Given the description of an element on the screen output the (x, y) to click on. 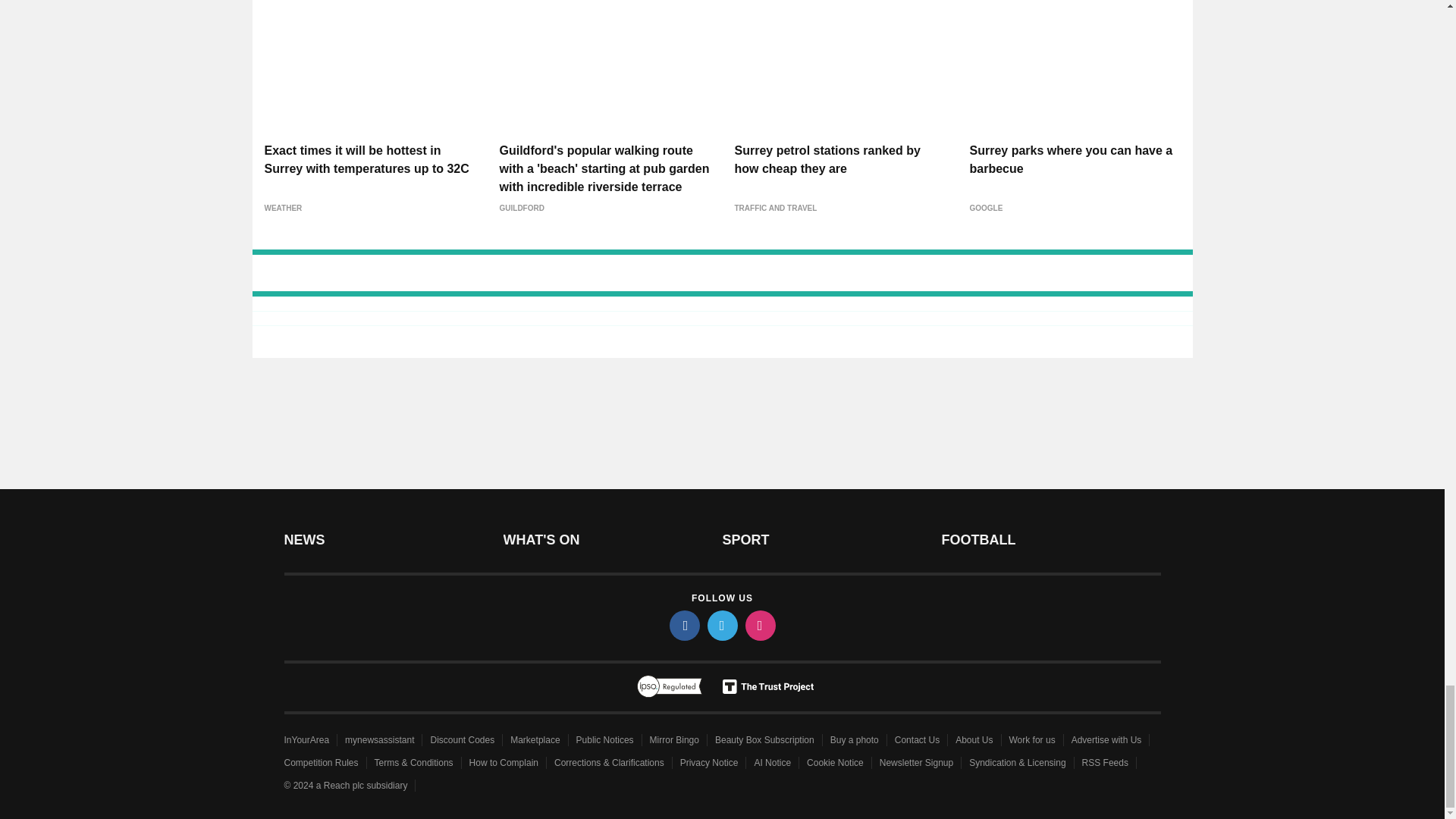
twitter (721, 625)
instagram (759, 625)
facebook (683, 625)
